Given the description of an element on the screen output the (x, y) to click on. 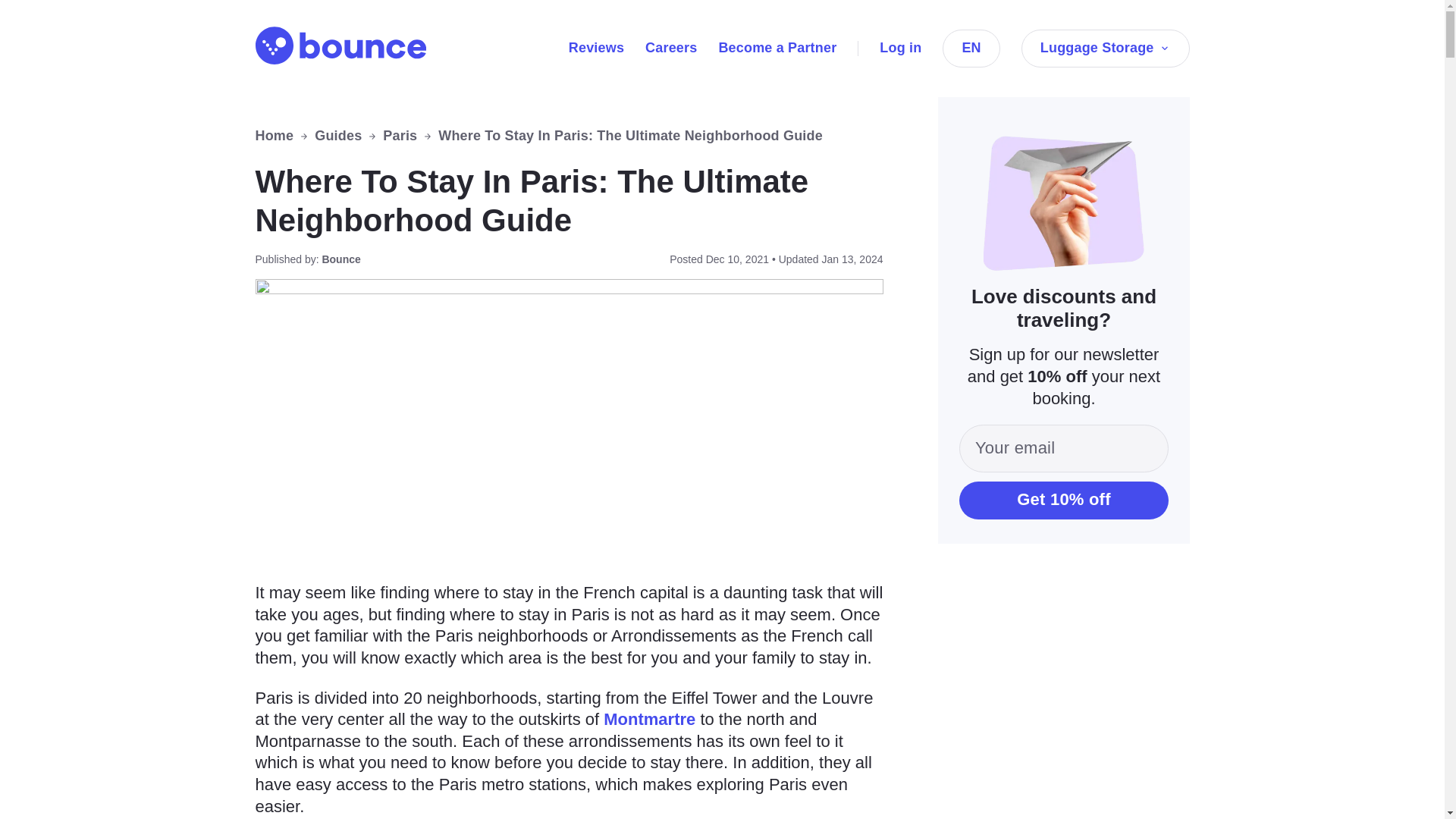
Careers (671, 47)
Guides (337, 135)
Become a Partner (776, 47)
Paris (399, 135)
Log in (900, 47)
Reviews (596, 47)
Bounce (339, 45)
Home (274, 135)
EN (970, 48)
Luggage Storage (1105, 48)
